Given the description of an element on the screen output the (x, y) to click on. 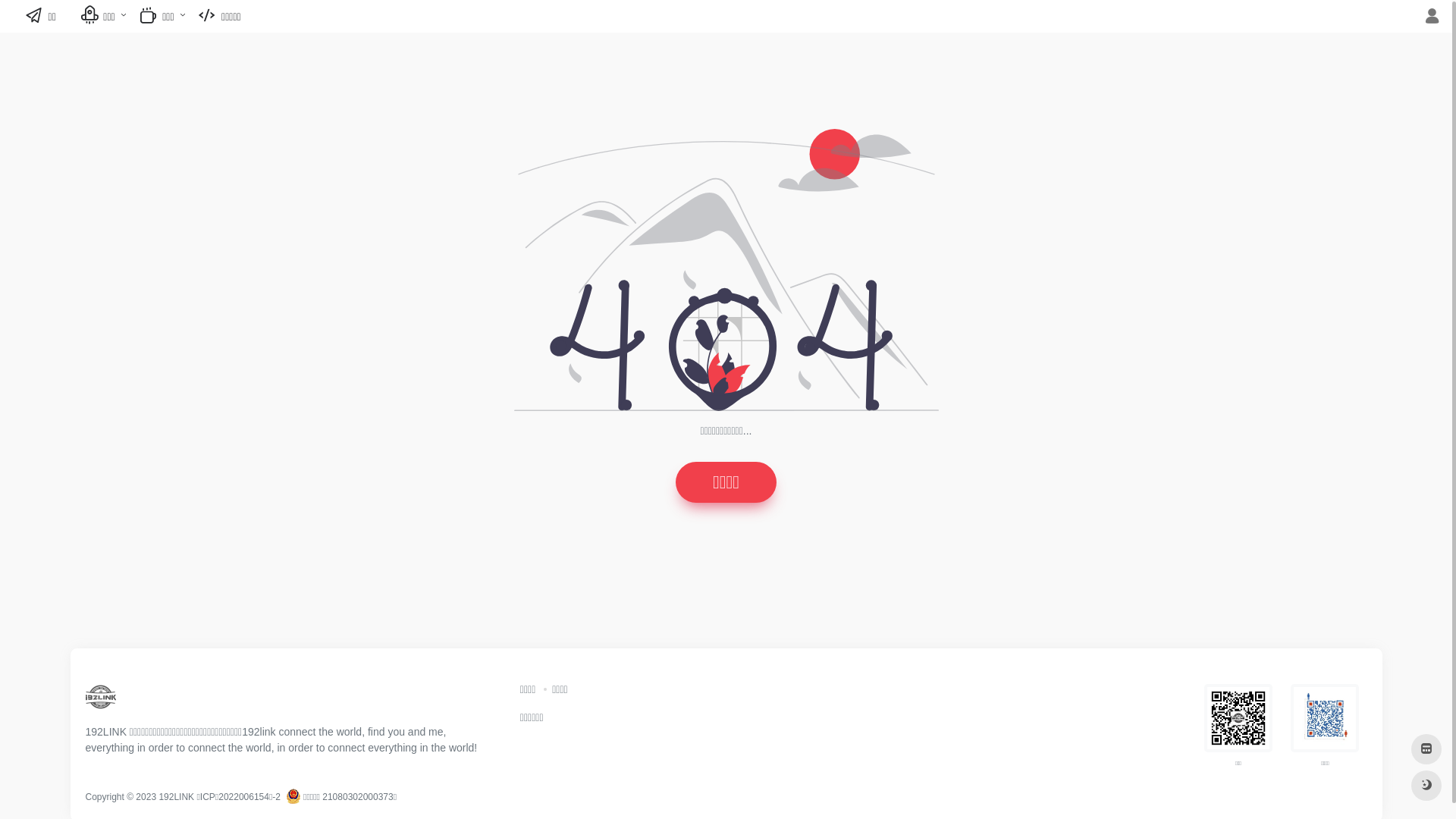
192LINK Element type: hover (99, 701)
192LINK Element type: text (176, 796)
